Given the description of an element on the screen output the (x, y) to click on. 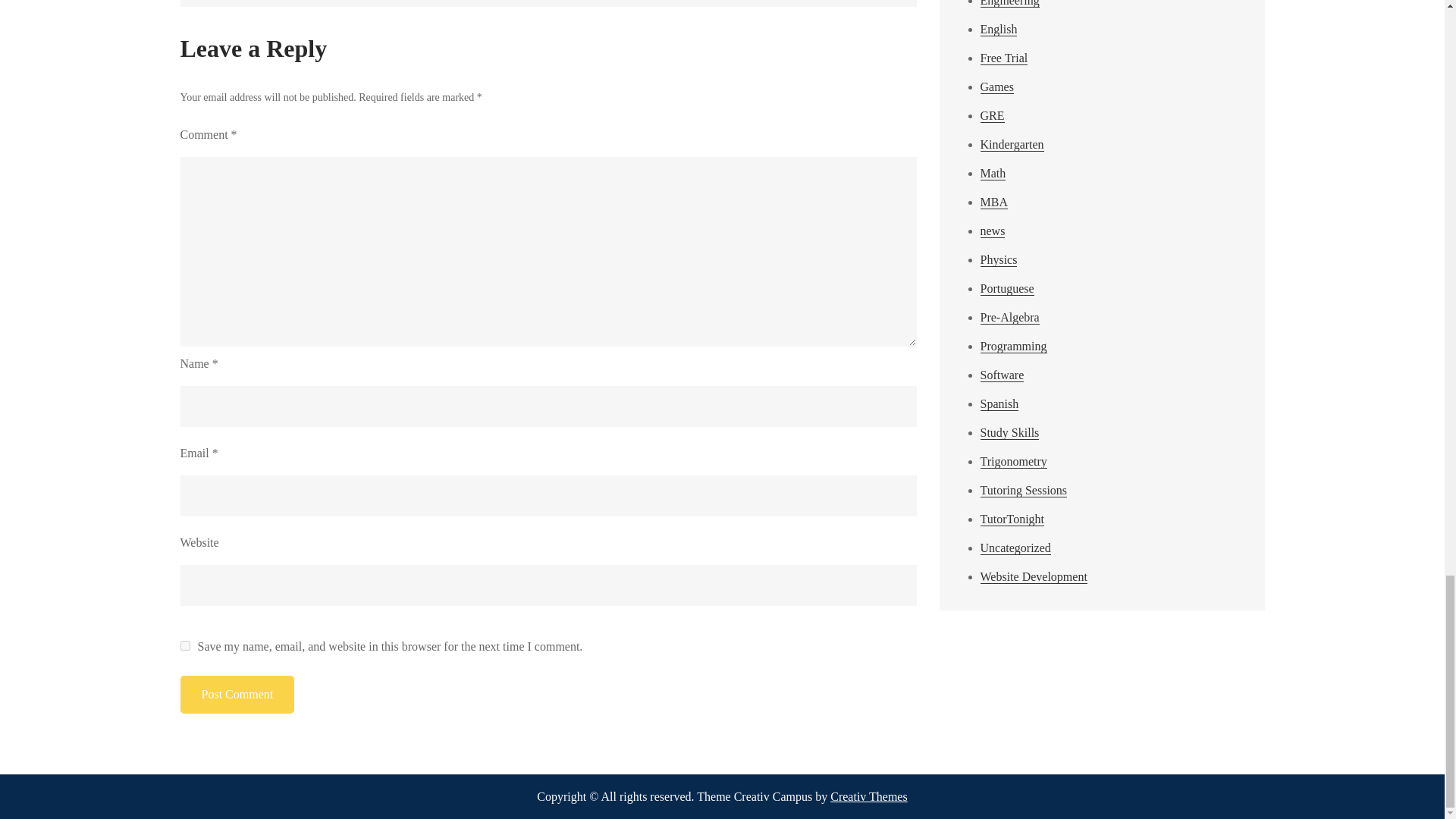
yes (185, 645)
Post Comment (237, 694)
Post Comment (237, 694)
